Given the description of an element on the screen output the (x, y) to click on. 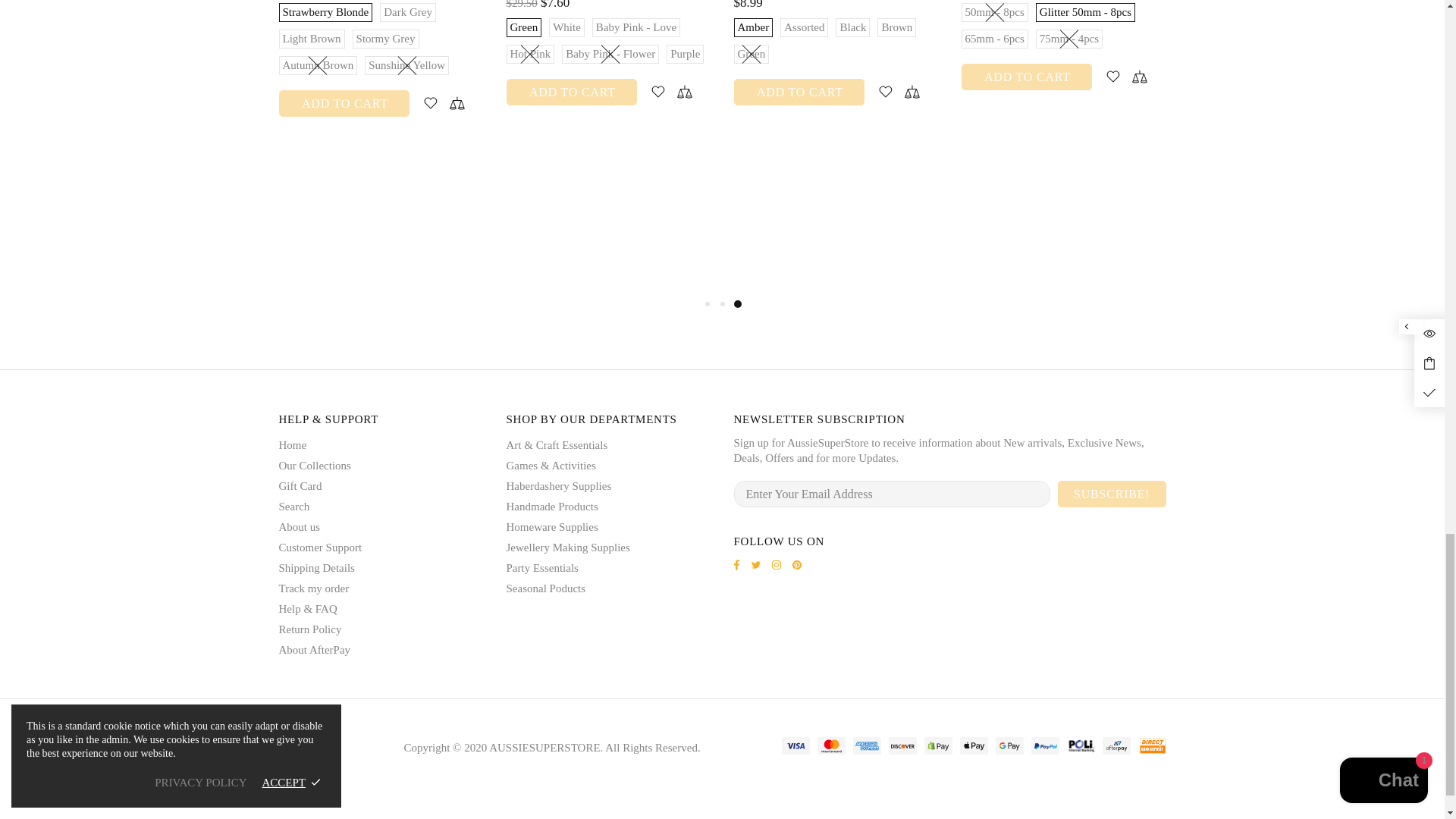
SUBSCRIBE! (1112, 493)
